Given the description of an element on the screen output the (x, y) to click on. 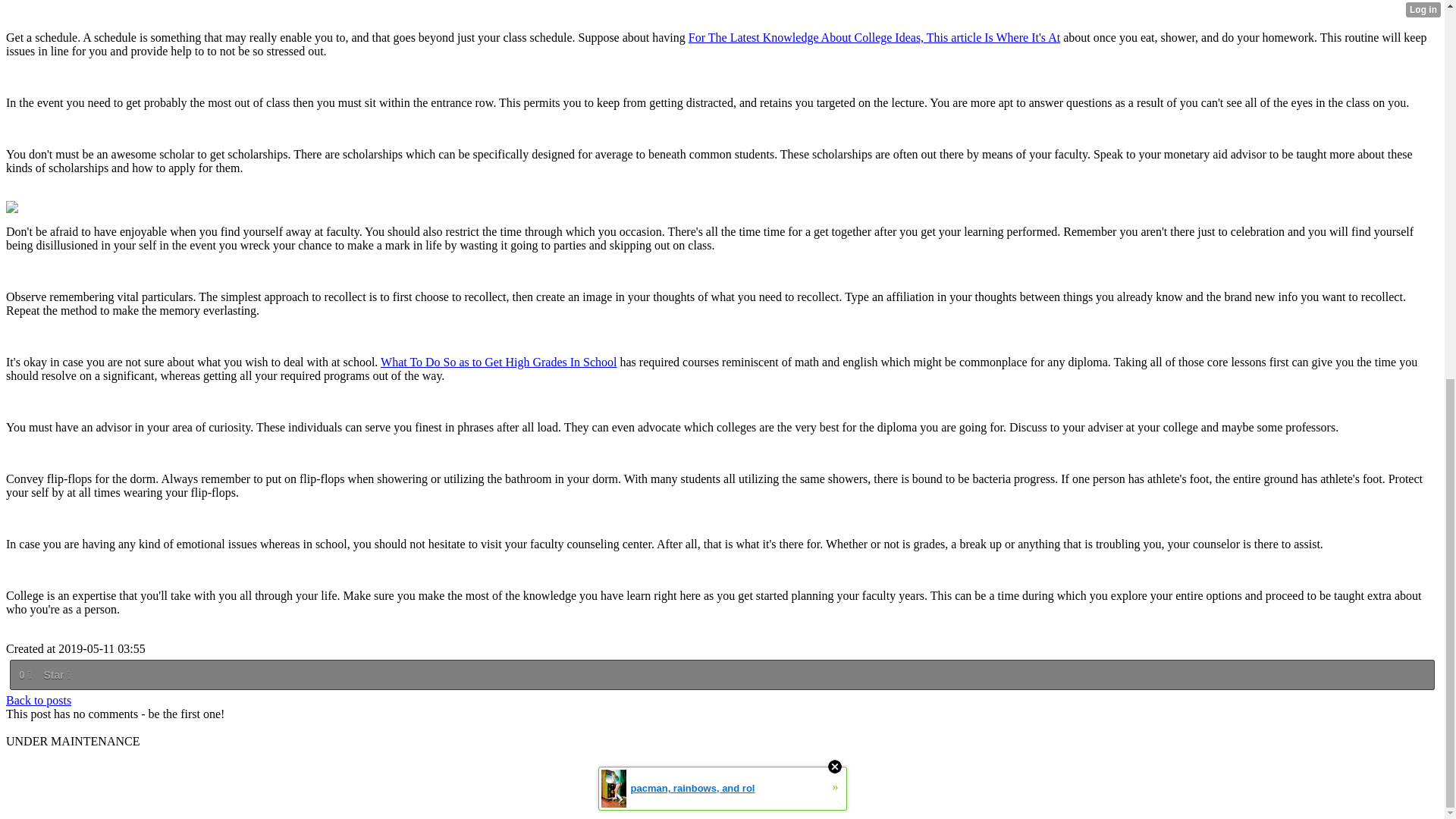
Star (56, 674)
Back to posts (38, 699)
0 (24, 674)
What To Do So as to Get High Grades In School (497, 361)
